Given the description of an element on the screen output the (x, y) to click on. 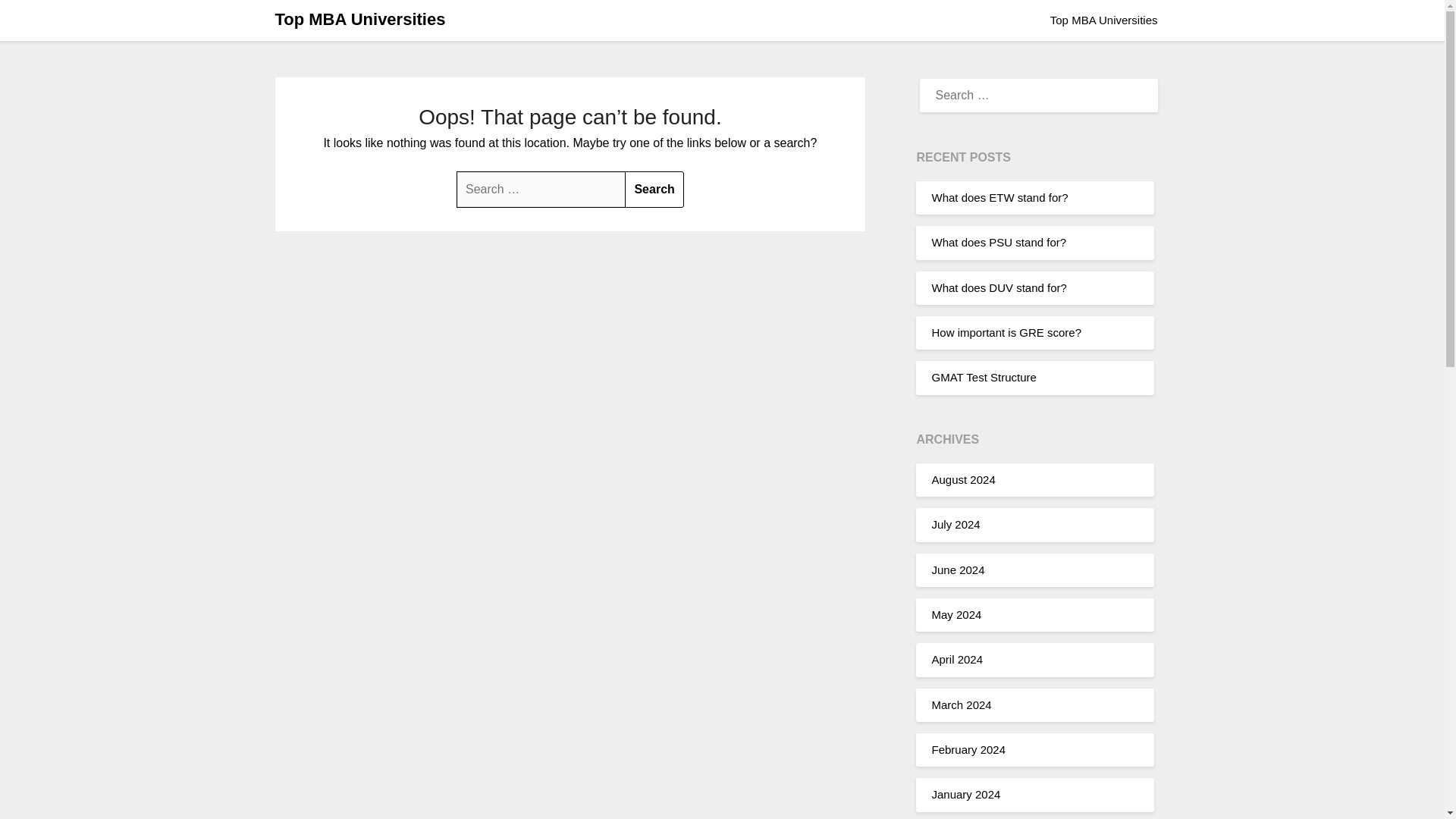
Search (29, 18)
August 2024 (962, 479)
July 2024 (955, 523)
What does ETW stand for? (999, 196)
February 2024 (968, 748)
Search (653, 189)
Search (653, 189)
How important is GRE score? (1006, 332)
January 2024 (965, 793)
Search (653, 189)
